Given the description of an element on the screen output the (x, y) to click on. 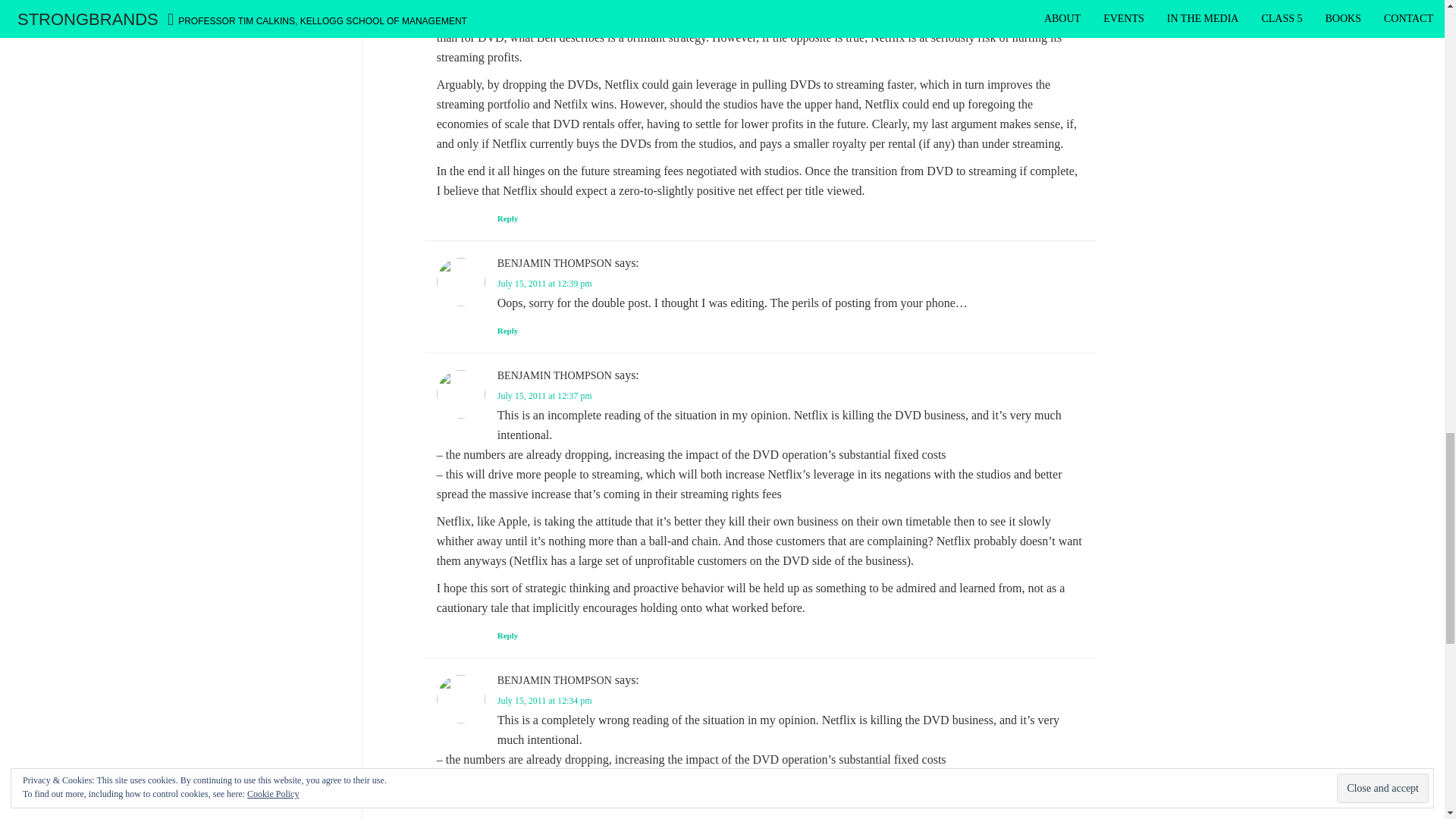
July 15, 2011 at 12:39 pm (544, 283)
Reply (507, 329)
July 15, 2011 at 12:34 pm (544, 700)
July 15, 2011 at 12:37 pm (544, 395)
Reply (507, 634)
Reply (507, 217)
